Given the description of an element on the screen output the (x, y) to click on. 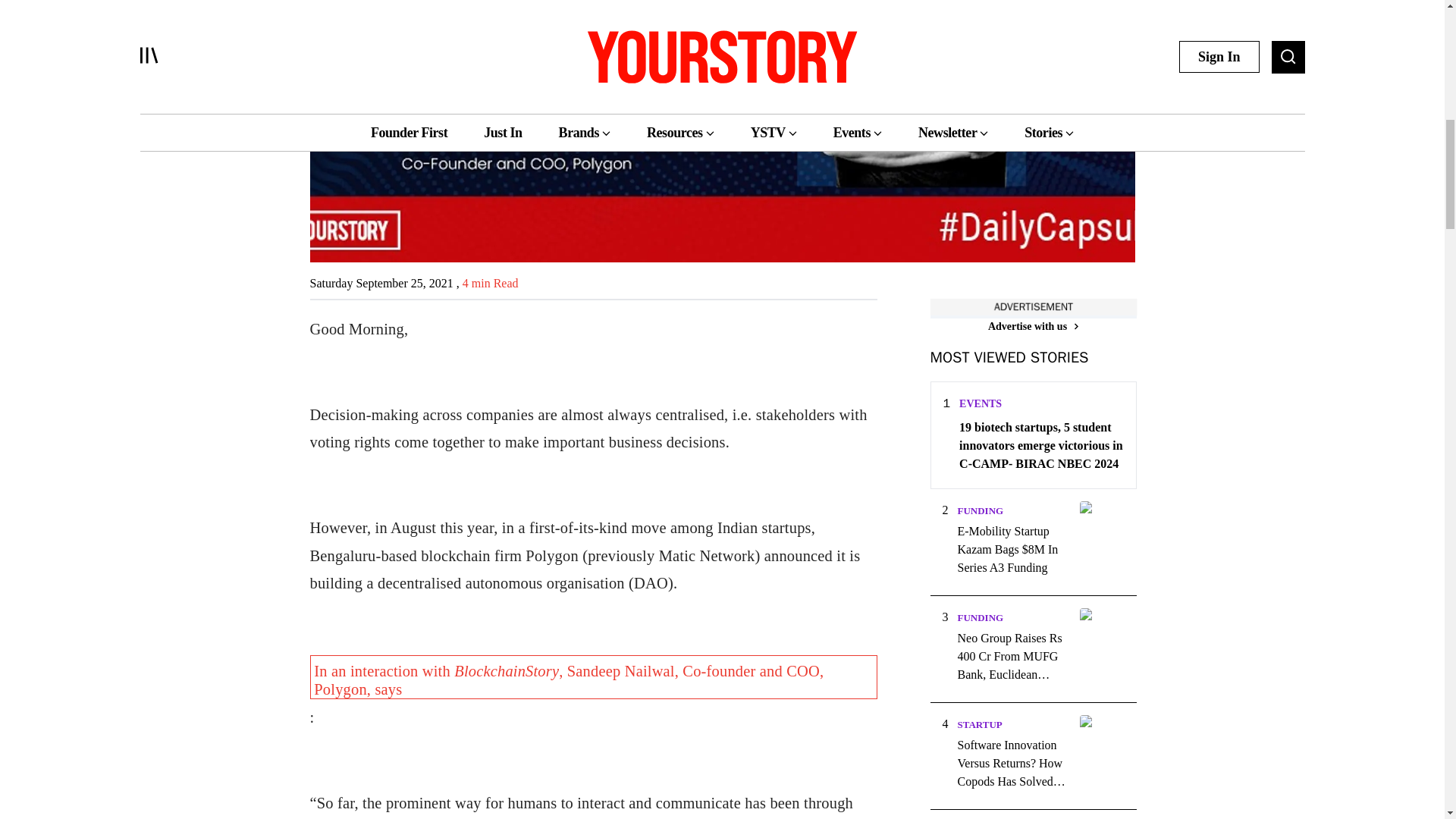
Advertise with us (1032, 326)
FUNDING (979, 510)
EVENTS (980, 403)
